Given the description of an element on the screen output the (x, y) to click on. 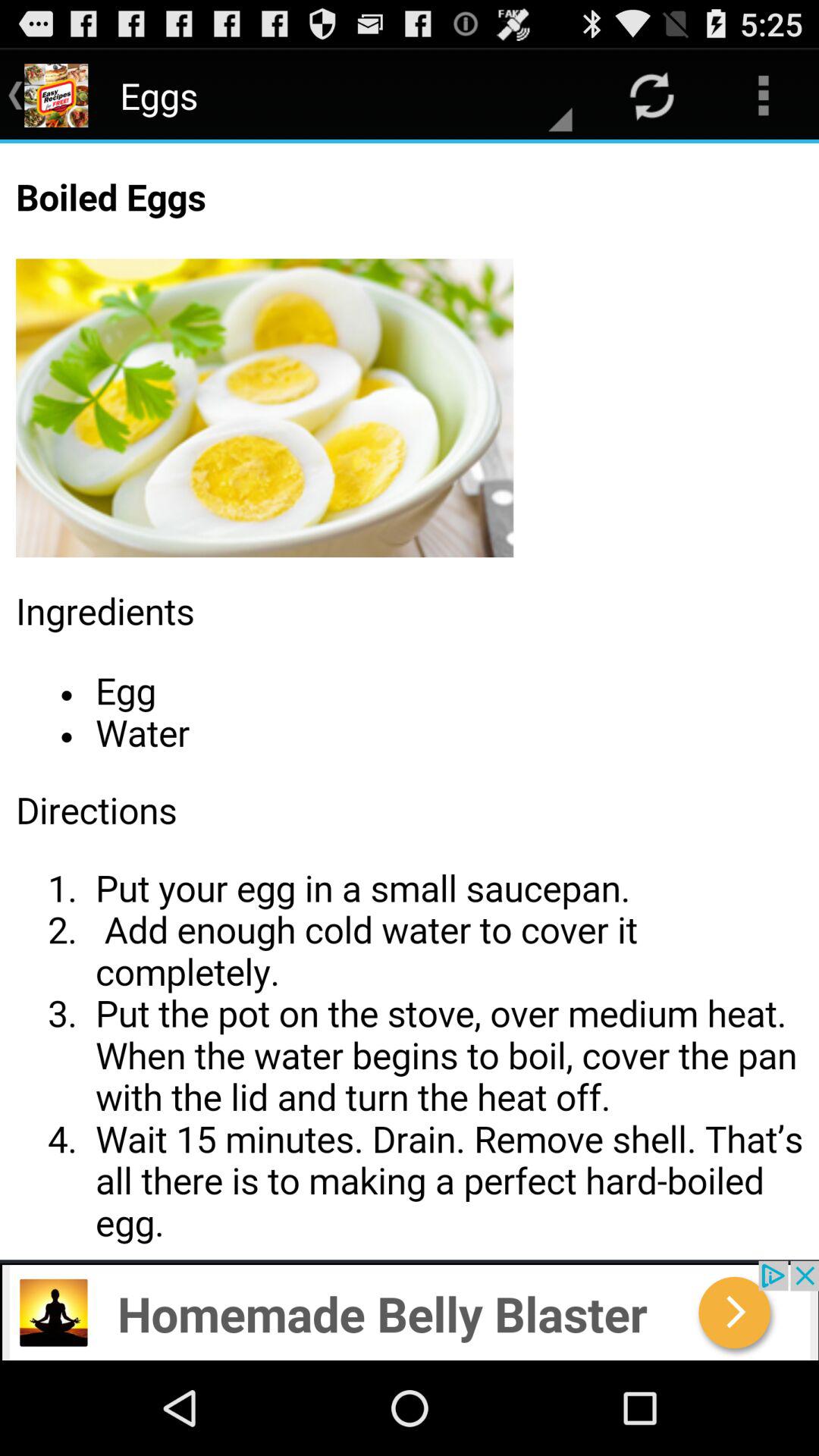
next button (409, 1310)
